Given the description of an element on the screen output the (x, y) to click on. 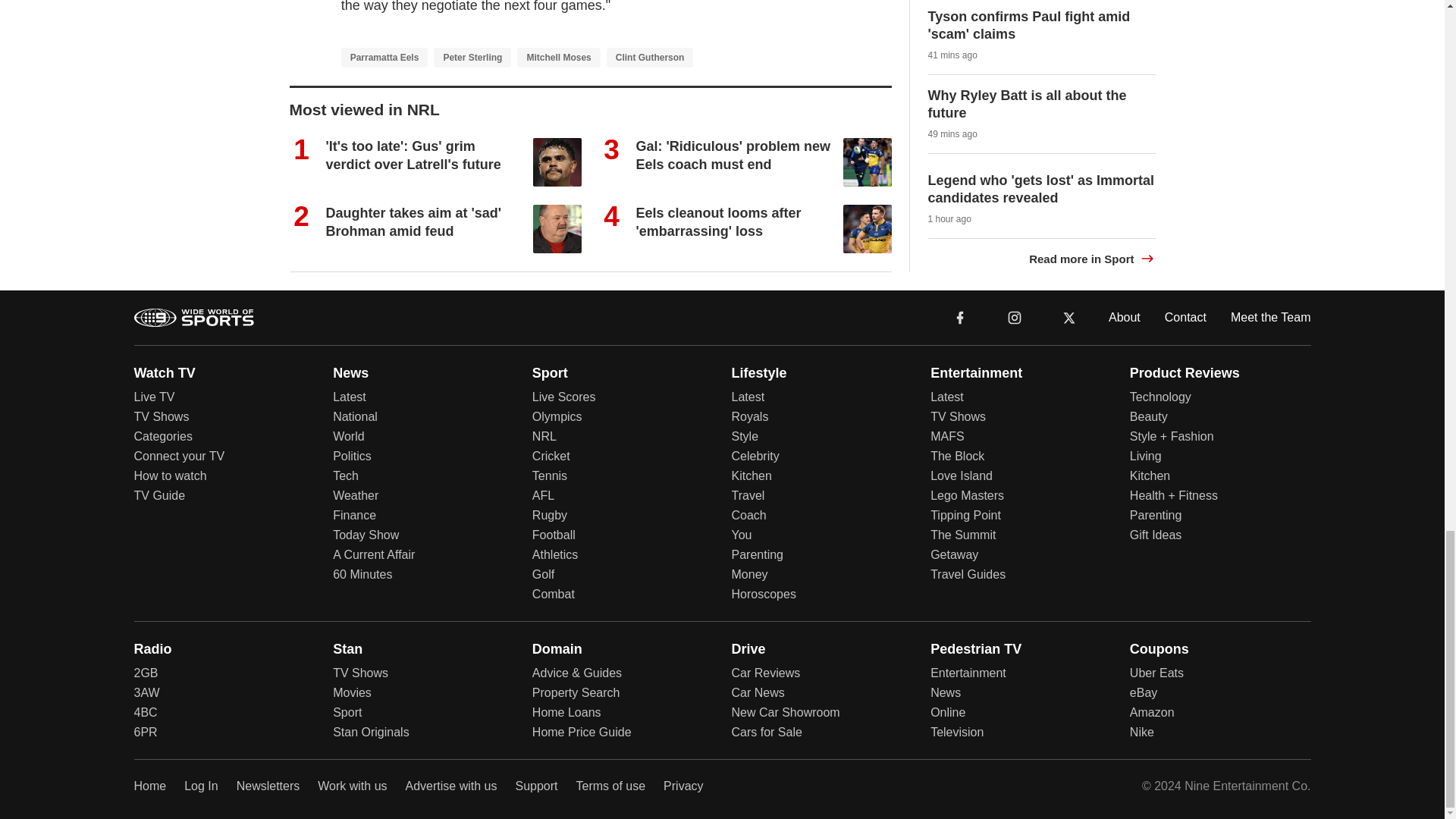
Daughter takes aim at 'sad' Brohman amid feud (414, 221)
'It's too late': Gus' grim verdict over Latrell's future (413, 154)
Eels cleanout looms after 'embarrassing' loss (717, 221)
Gal: 'Ridiculous' problem new Eels coach must end (731, 154)
facebook (960, 317)
x (1069, 317)
x (1069, 316)
Parramatta Eels (384, 57)
instagram (1013, 316)
Peter Sterling (472, 57)
